Given the description of an element on the screen output the (x, y) to click on. 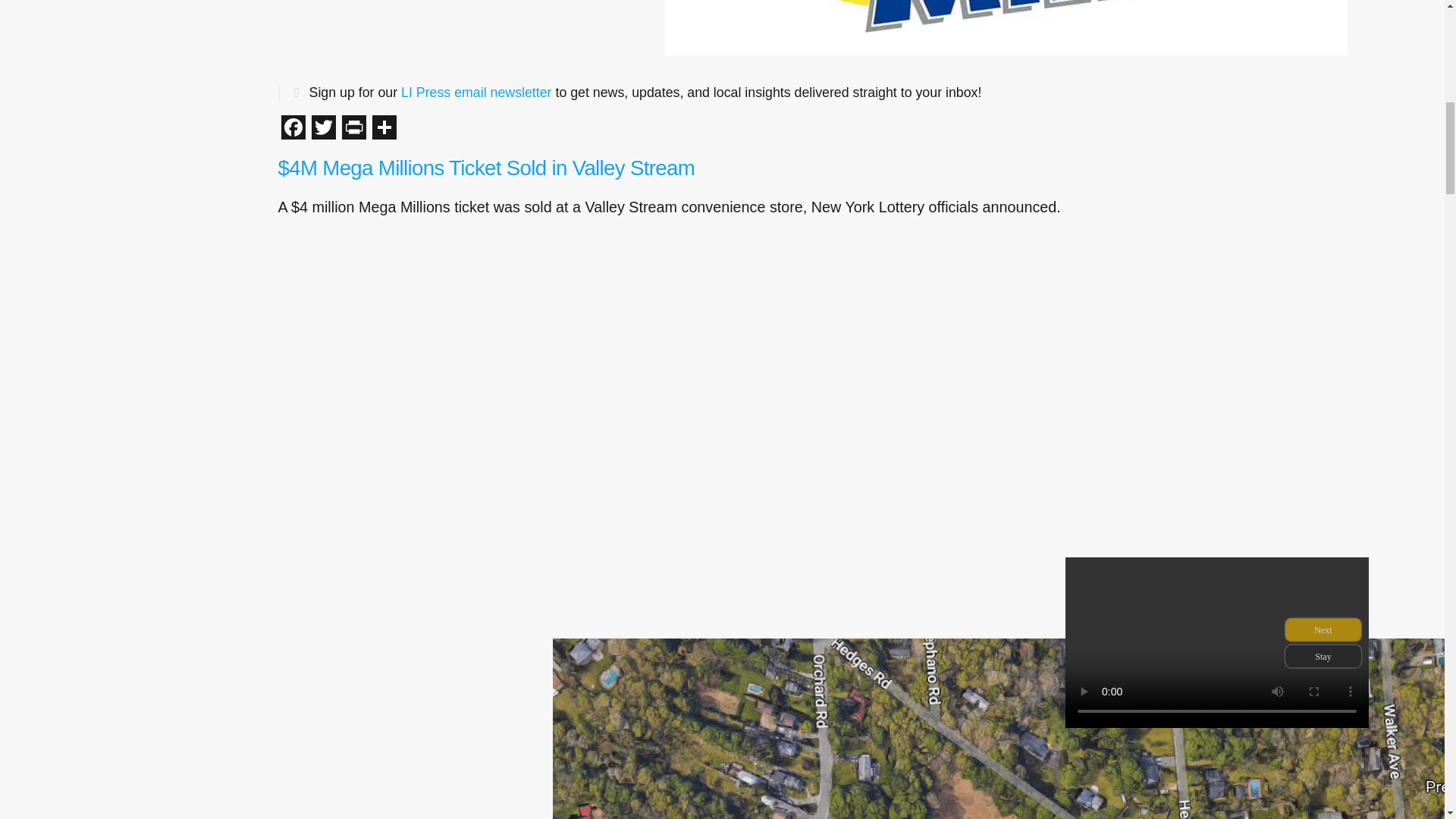
Facebook (292, 129)
